Given the description of an element on the screen output the (x, y) to click on. 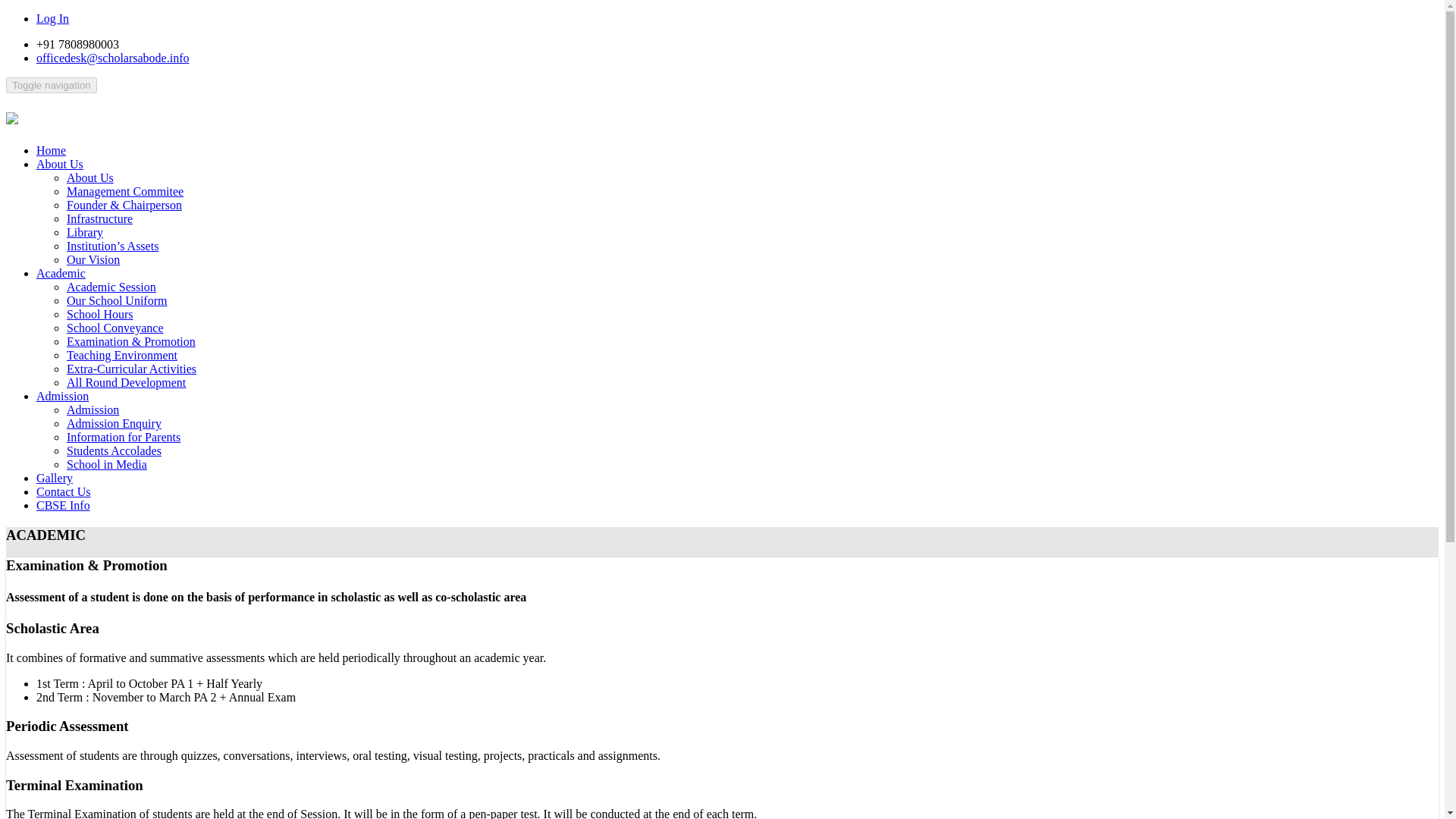
Library (84, 232)
Infrastructure (99, 218)
Our School Uniform (116, 300)
Admission (92, 409)
About Us (59, 164)
School in Media (106, 463)
CBSE Info (63, 504)
Admission Enquiry (113, 422)
Our Vision (92, 259)
About Us (89, 177)
School Conveyance (114, 327)
School Hours (99, 314)
Academic Session (110, 286)
All Round Development (126, 382)
Academic (60, 273)
